Given the description of an element on the screen output the (x, y) to click on. 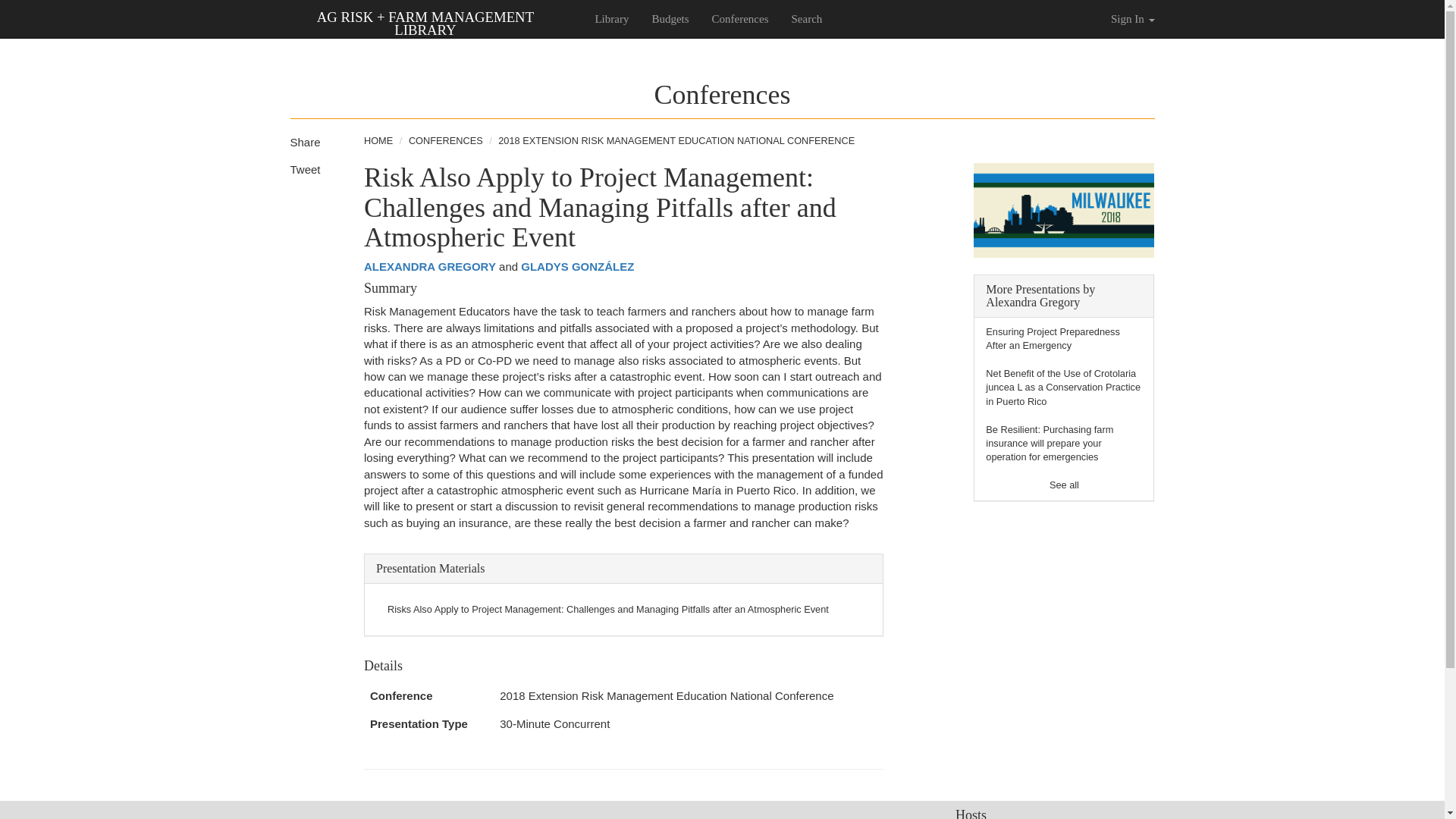
Library (611, 18)
See all (1063, 484)
30-Minute Concurrent (554, 723)
2018 EXTENSION RISK MANAGEMENT EDUCATION NATIONAL CONFERENCE (675, 140)
Budgets (670, 18)
Sign In (1132, 18)
2018 Extension Risk Management Education National Conference (665, 695)
Budgets (467, 817)
Budgets (670, 18)
